Given the description of an element on the screen output the (x, y) to click on. 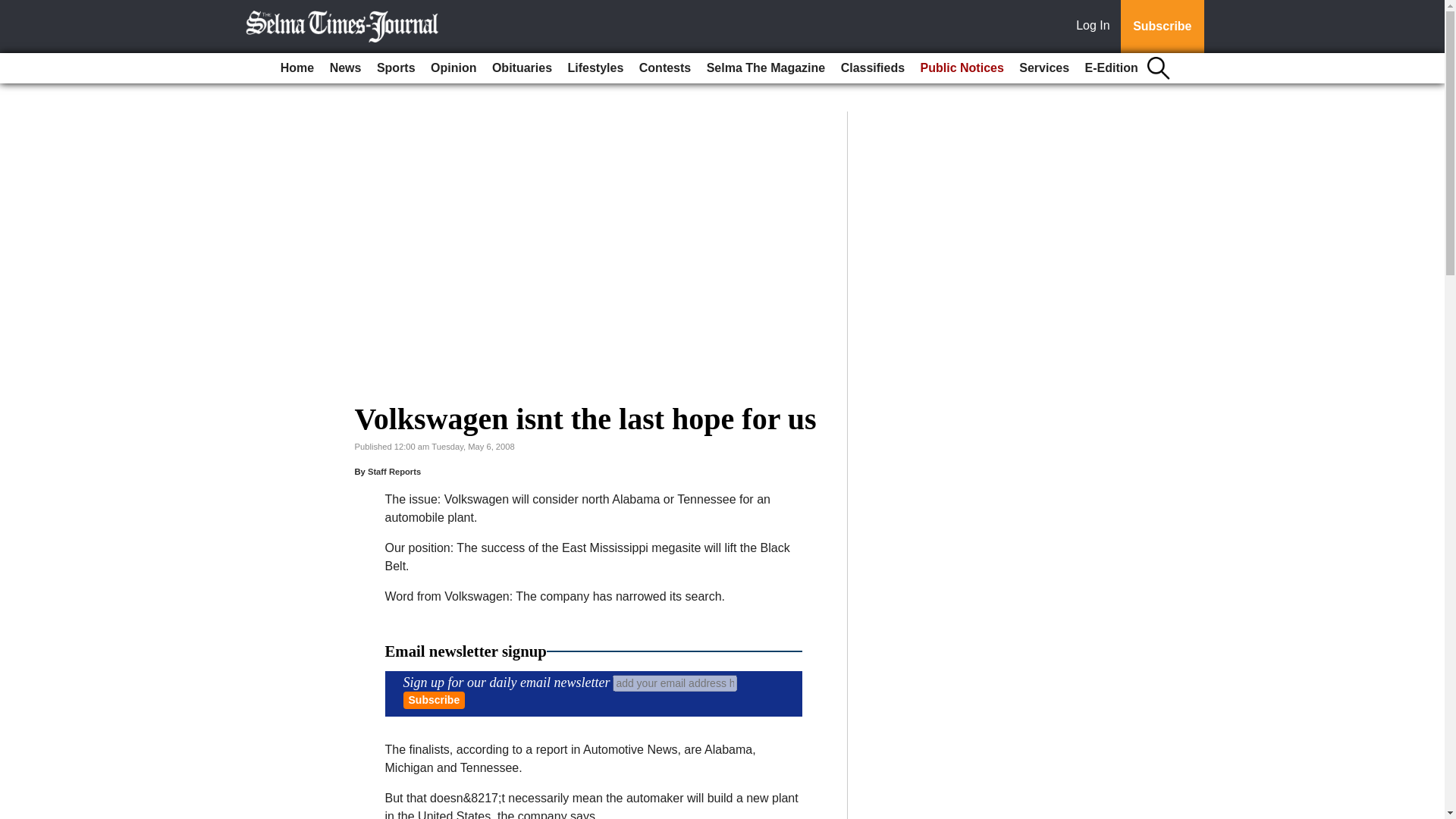
Classifieds (872, 68)
Go (13, 9)
E-Edition (1111, 68)
Obituaries (521, 68)
Lifestyles (596, 68)
News (345, 68)
Subscribe (434, 700)
Subscribe (434, 700)
Services (1044, 68)
Sports (396, 68)
Subscribe (1162, 26)
Log In (1095, 26)
Public Notices (962, 68)
Selma The Magazine (765, 68)
Staff Reports (394, 470)
